Given the description of an element on the screen output the (x, y) to click on. 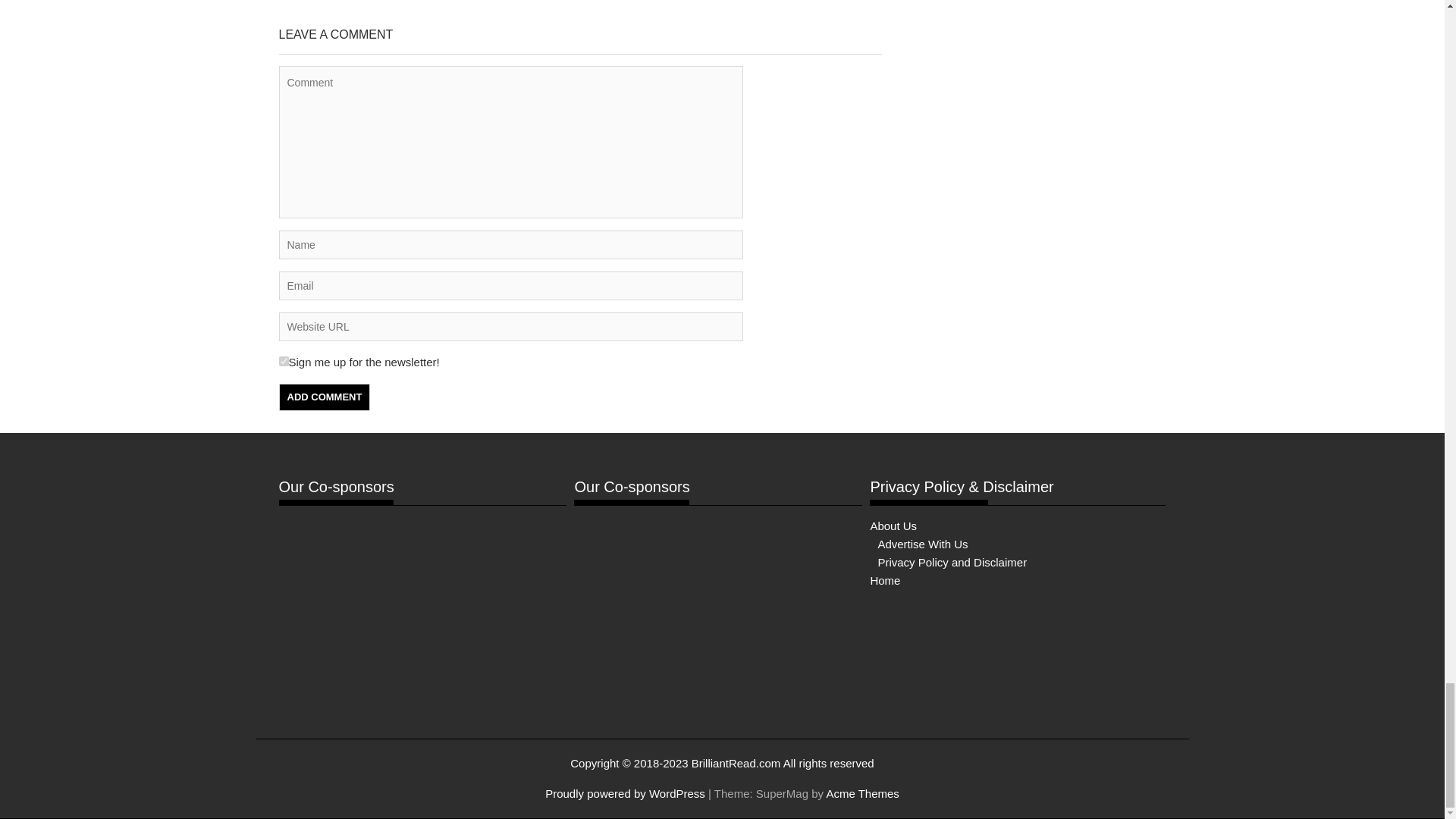
1 (283, 361)
Add Comment (325, 397)
Add Comment (325, 397)
